Given the description of an element on the screen output the (x, y) to click on. 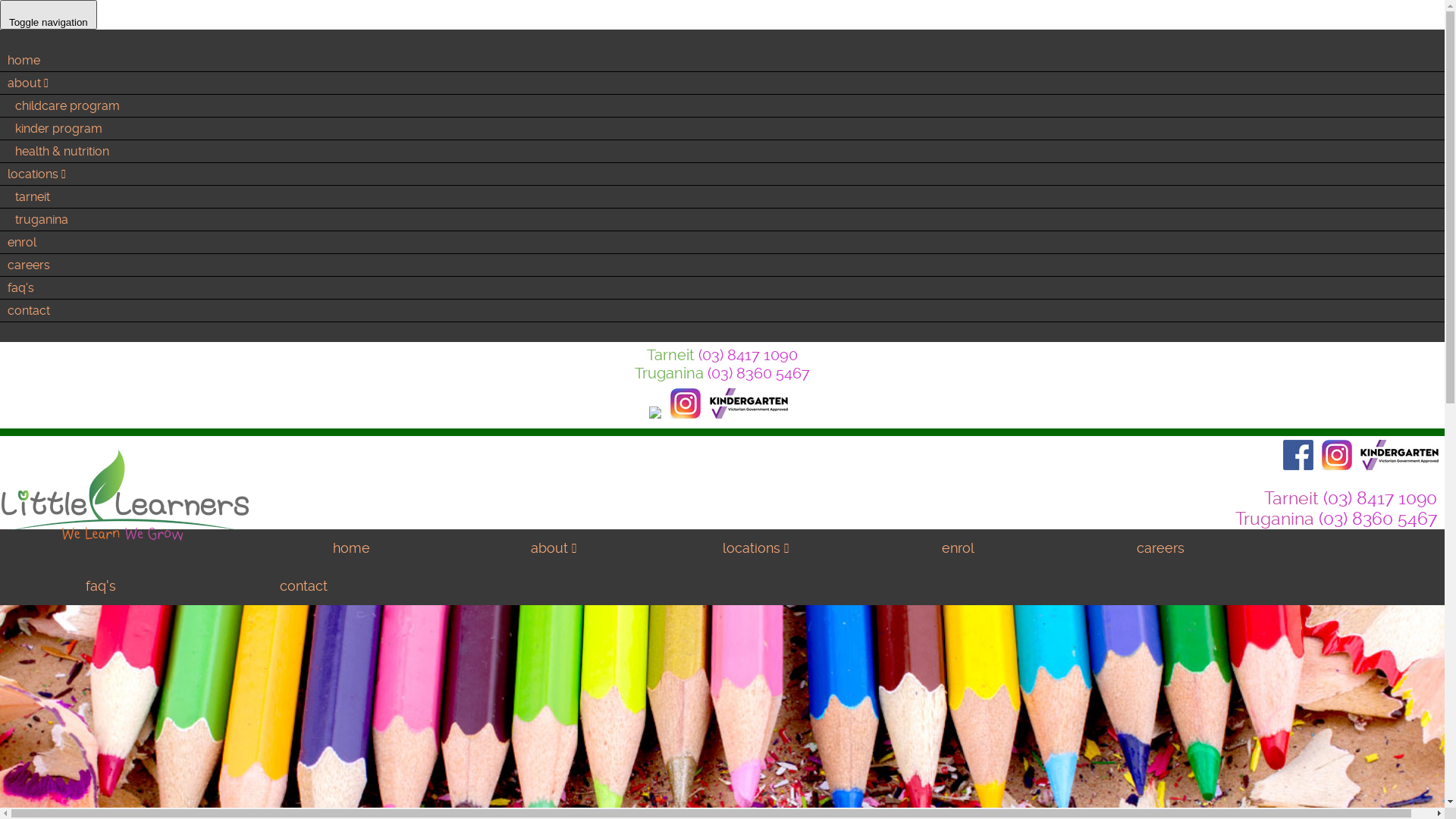
(03) 8360 5467 Element type: text (1377, 518)
(03) 8417 1090 Element type: text (1380, 498)
Toggle navigation Element type: text (48, 14)
contact Element type: text (303, 586)
faq's Element type: text (100, 586)
home Element type: text (351, 548)
(03) 8360 5467 Element type: text (758, 373)
enrol Element type: text (957, 548)
(03) 8417 1090 Element type: text (747, 354)
careers Element type: text (1160, 548)
